Given the description of an element on the screen output the (x, y) to click on. 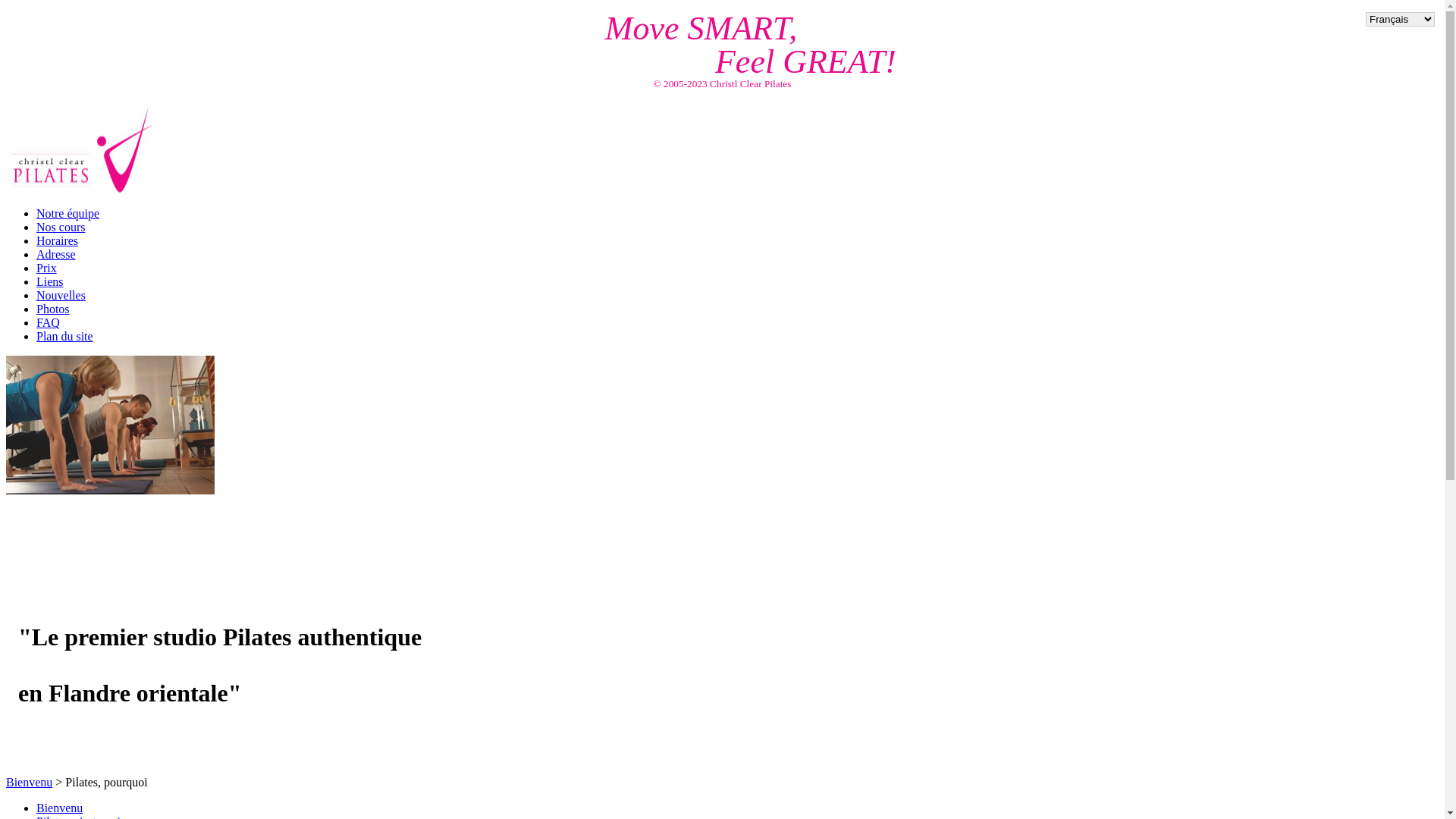
Bienvenu Element type: text (29, 781)
Adresse Element type: text (55, 253)
Horaires Element type: text (57, 240)
Photos Element type: text (52, 308)
FAQ Element type: text (47, 322)
Nos cours Element type: text (60, 226)
Prix Element type: text (46, 267)
Plan du site Element type: text (64, 335)
Nouvelles Element type: text (60, 294)
Liens Element type: text (49, 281)
Bienvenu Element type: text (59, 807)
